Given the description of an element on the screen output the (x, y) to click on. 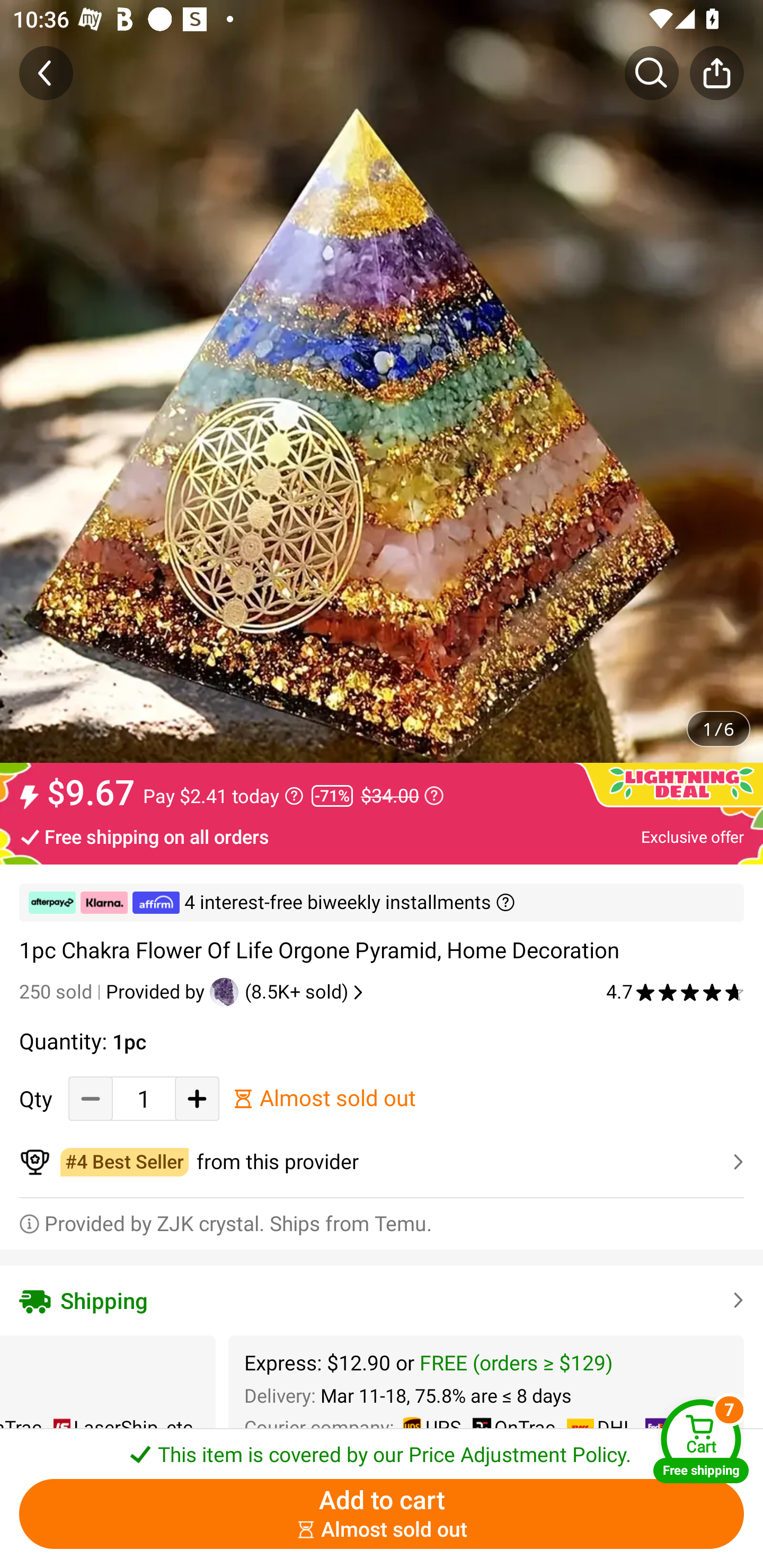
Back (46, 72)
Share (716, 72)
Pay $2.41 today   (223, 795)
Free shipping on all orders Exclusive offer (381, 836)
￼ ￼ ￼ 4 interest-free biweekly installments ￼ (381, 902)
250 sold Provided by  (114, 992)
4.7 (674, 992)
Decrease Quantity Button (90, 1098)
1 (143, 1098)
Add Quantity button (196, 1098)
￼￼from this provider (381, 1162)
Shipping (381, 1300)
Cart Free shipping Cart (701, 1440)
Add to cart ￼￼Almost sold out (381, 1513)
